Given the description of an element on the screen output the (x, y) to click on. 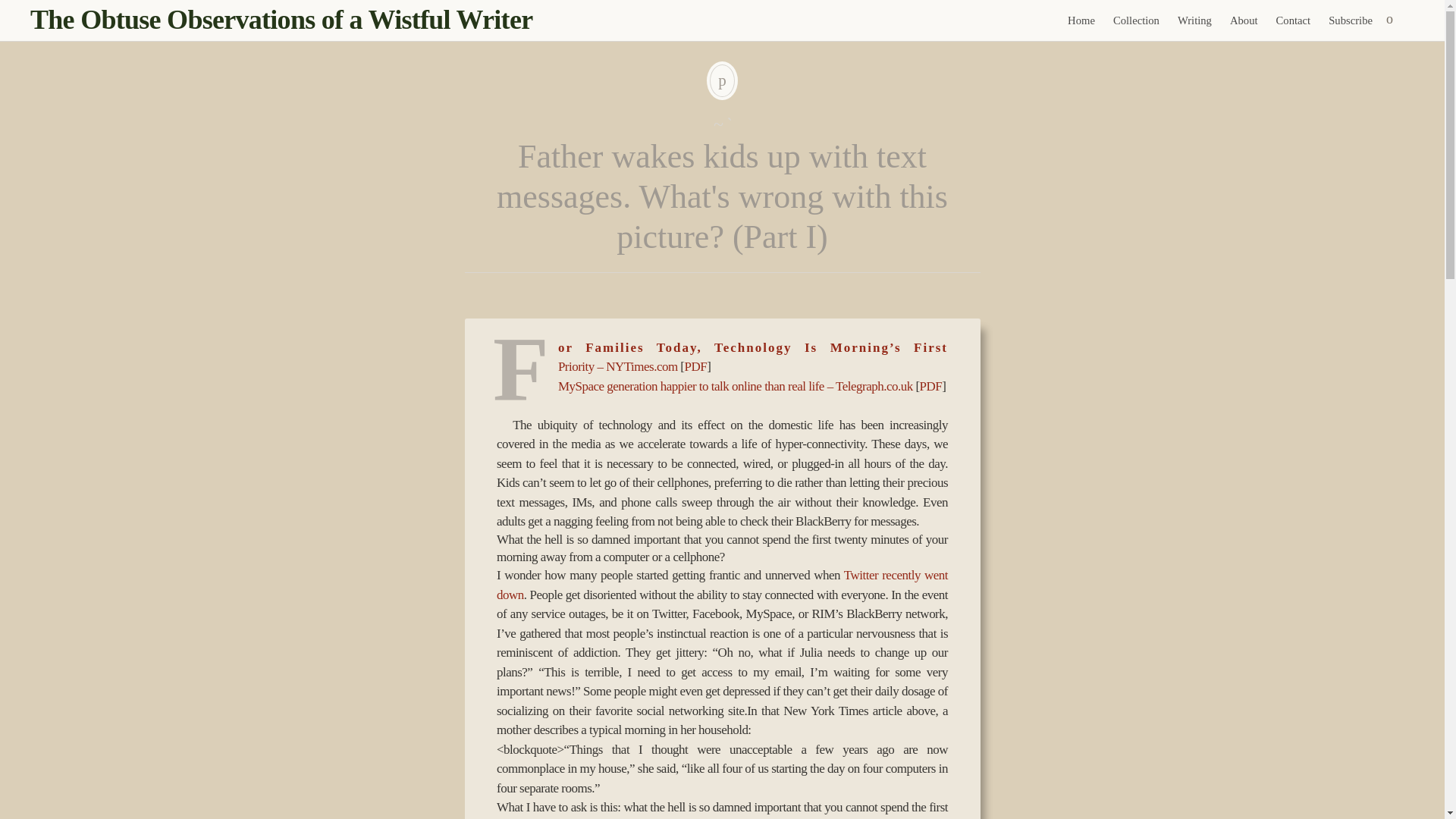
Contact (1293, 20)
Collection (1136, 20)
The Obtuse Observations of a Wistful Writer (281, 19)
PDF (931, 386)
The Obtuse Observations of a Wistful Writer (281, 19)
About (1244, 20)
PDF (695, 366)
Home (1080, 20)
Twitter recently went down (721, 584)
Subscribe (1350, 20)
